Given the description of an element on the screen output the (x, y) to click on. 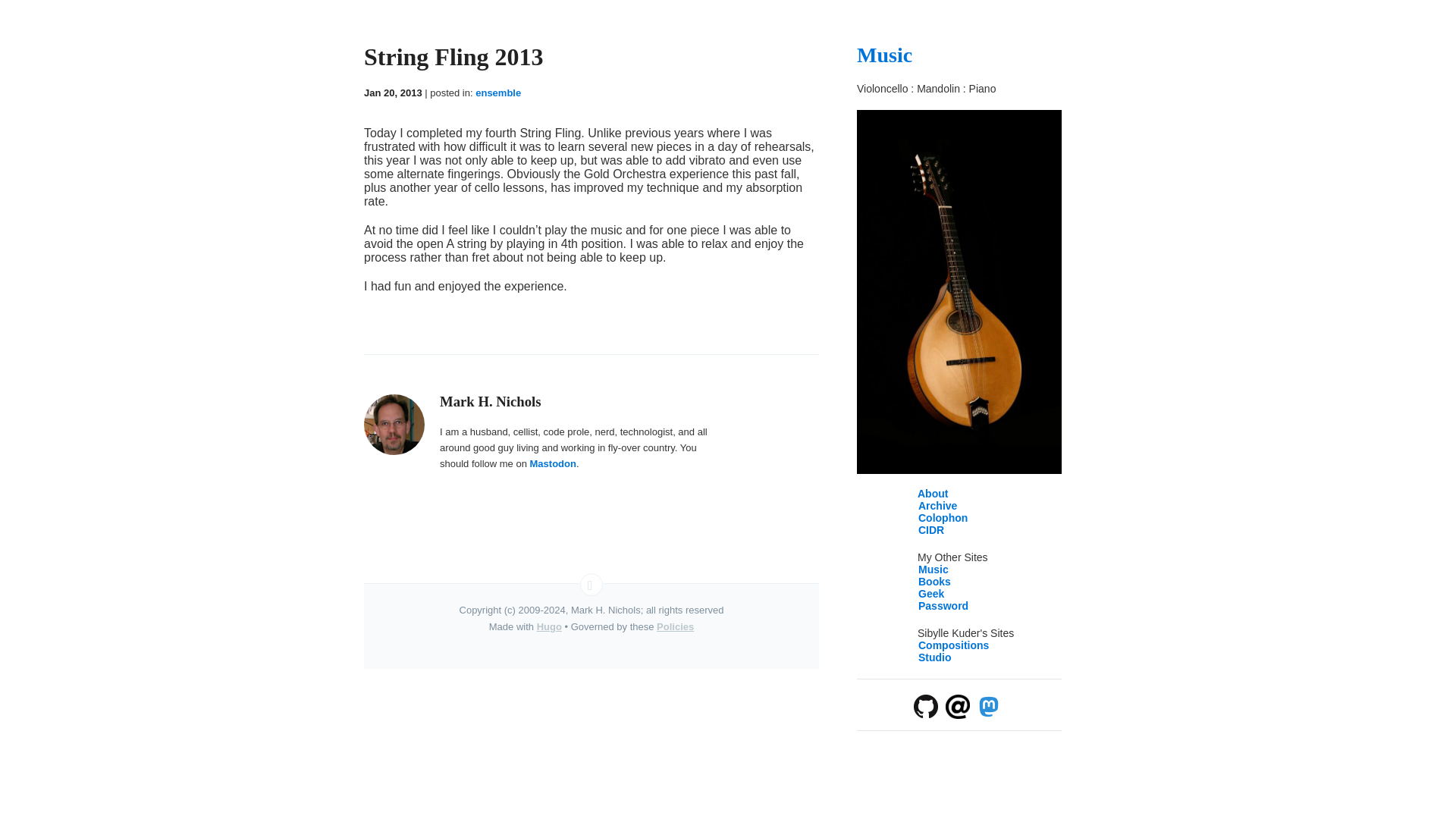
Password (943, 605)
Music (884, 54)
Archive (937, 505)
Music (933, 569)
Mastodon (552, 463)
Compositions (953, 645)
About (932, 493)
Books (934, 581)
Colophon (943, 517)
Policies (675, 626)
Studio (935, 657)
CIDR (930, 530)
Hugo (549, 626)
ensemble (498, 92)
Geek (930, 593)
